Given the description of an element on the screen output the (x, y) to click on. 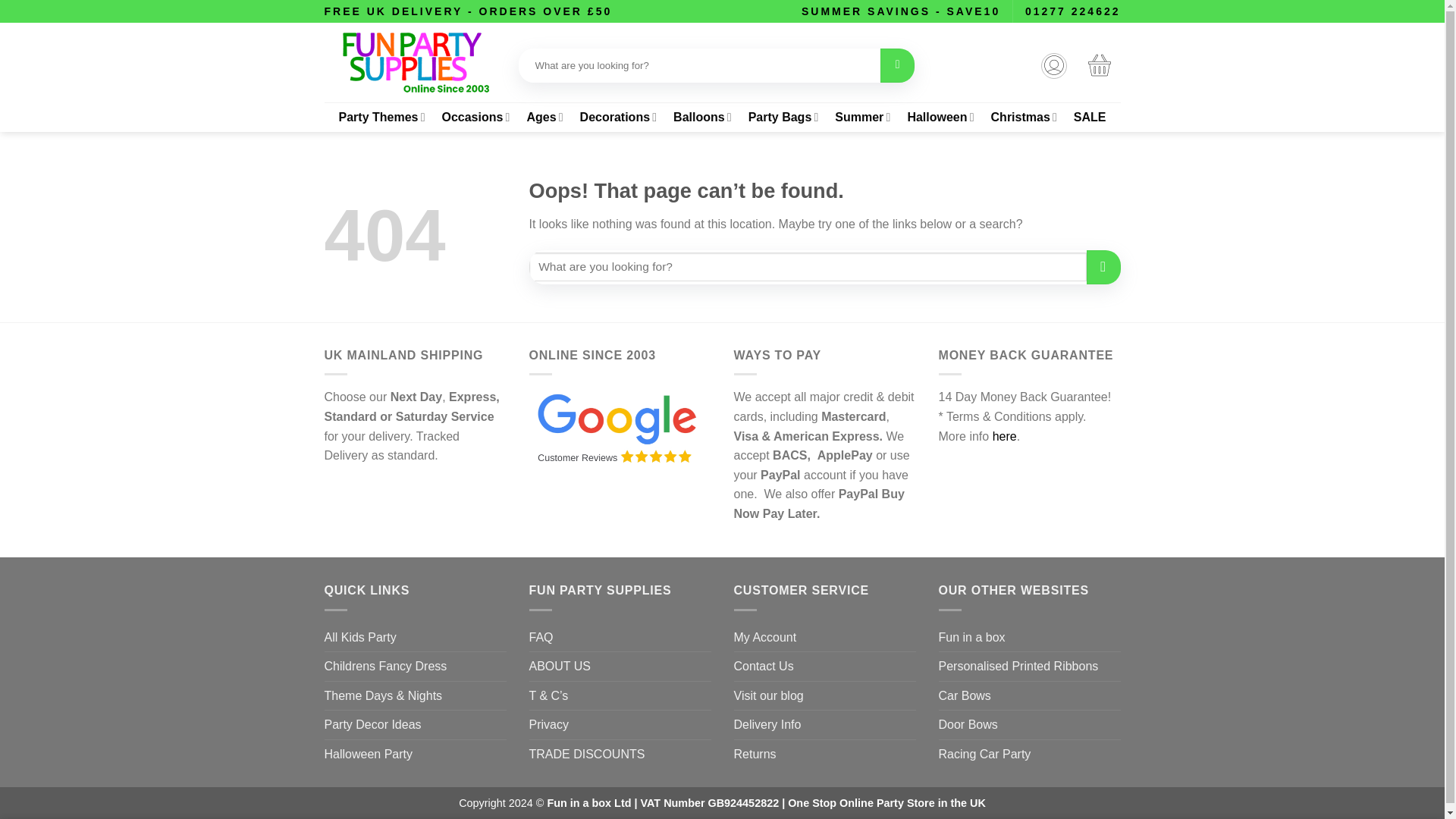
SUMMER SAVINGS - SAVE10 (901, 10)
Occasions (475, 116)
Party Themes (381, 116)
01277 224622 (1073, 10)
Basket (1099, 64)
Search (897, 65)
